Given the description of an element on the screen output the (x, y) to click on. 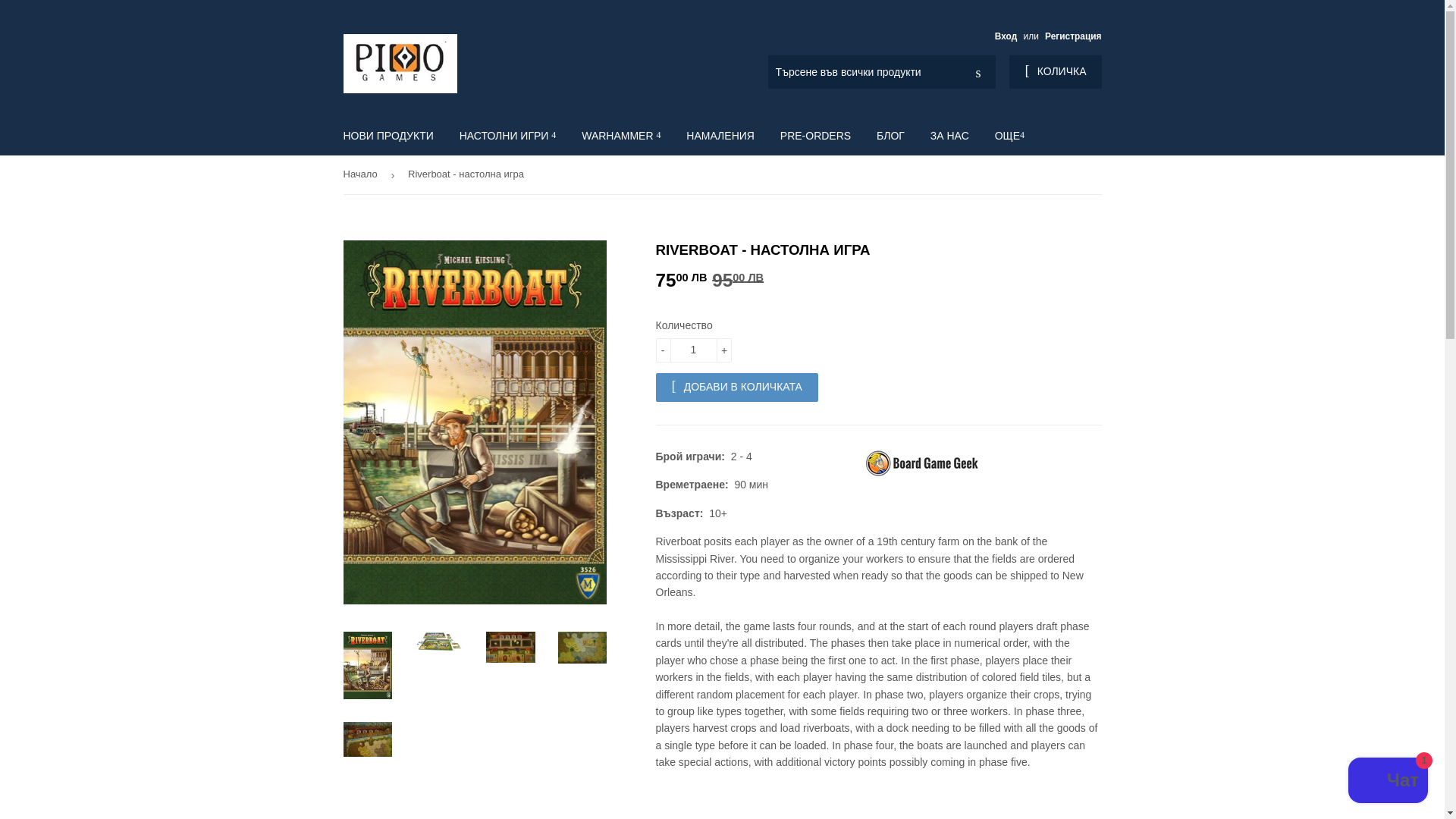
1 (692, 350)
WARHAMMER (620, 135)
PRE-ORDERS (814, 135)
Riverboat (923, 474)
